Given the description of an element on the screen output the (x, y) to click on. 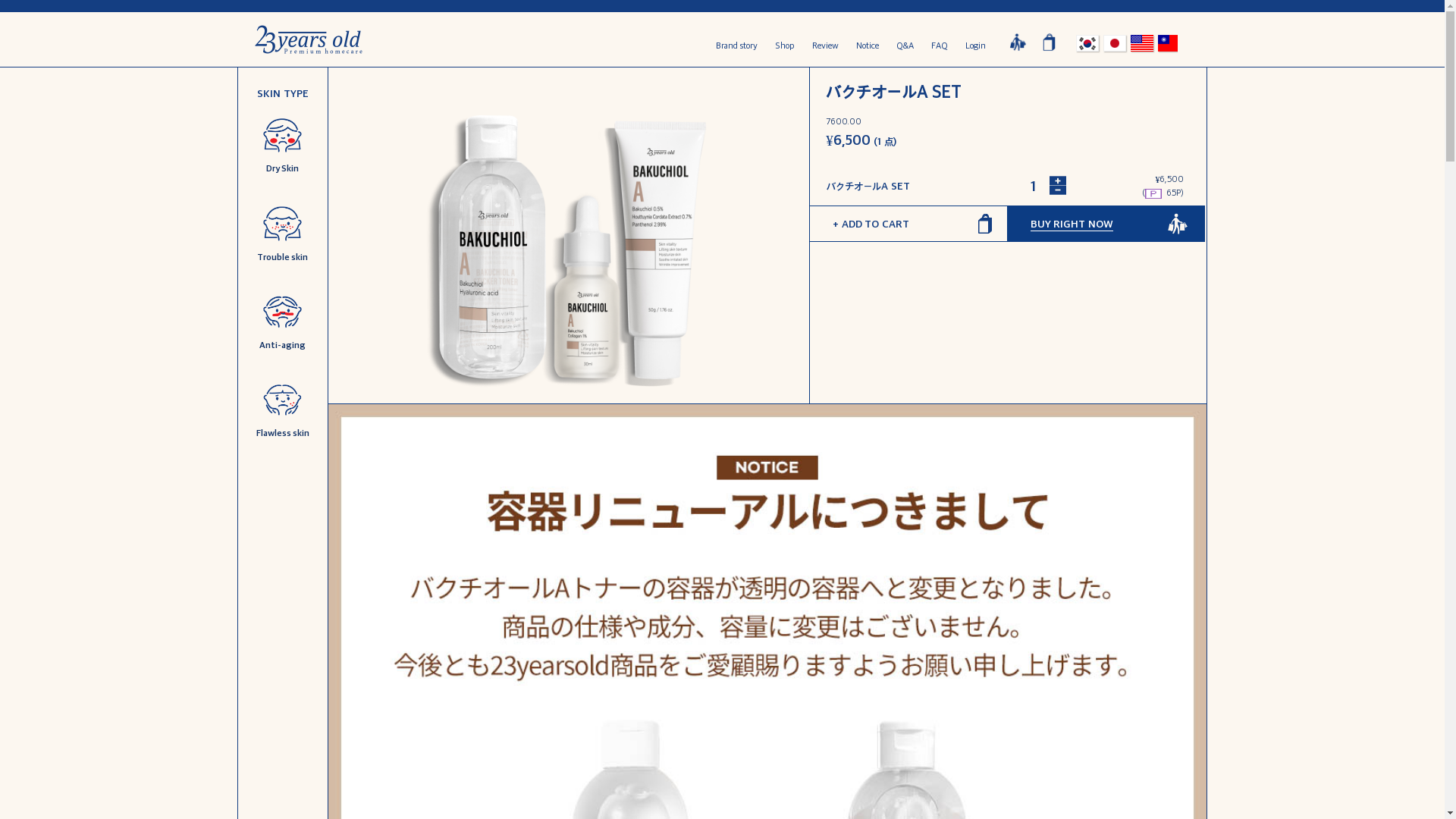
Review Element type: text (824, 45)
Trouble skin Element type: text (282, 232)
Dry Skin Element type: text (282, 144)
Anti-aging Element type: text (282, 321)
Notice Element type: text (866, 45)
Brand story Element type: text (736, 45)
Shop Element type: text (784, 45)
Login Element type: text (974, 45)
+ ADD TO CART Element type: text (908, 223)
FAQ Element type: text (939, 45)
BUY RIGHT NOW Element type: text (1106, 223)
Q&A Element type: text (904, 45)
Flawless skin Element type: text (282, 409)
